Given the description of an element on the screen output the (x, y) to click on. 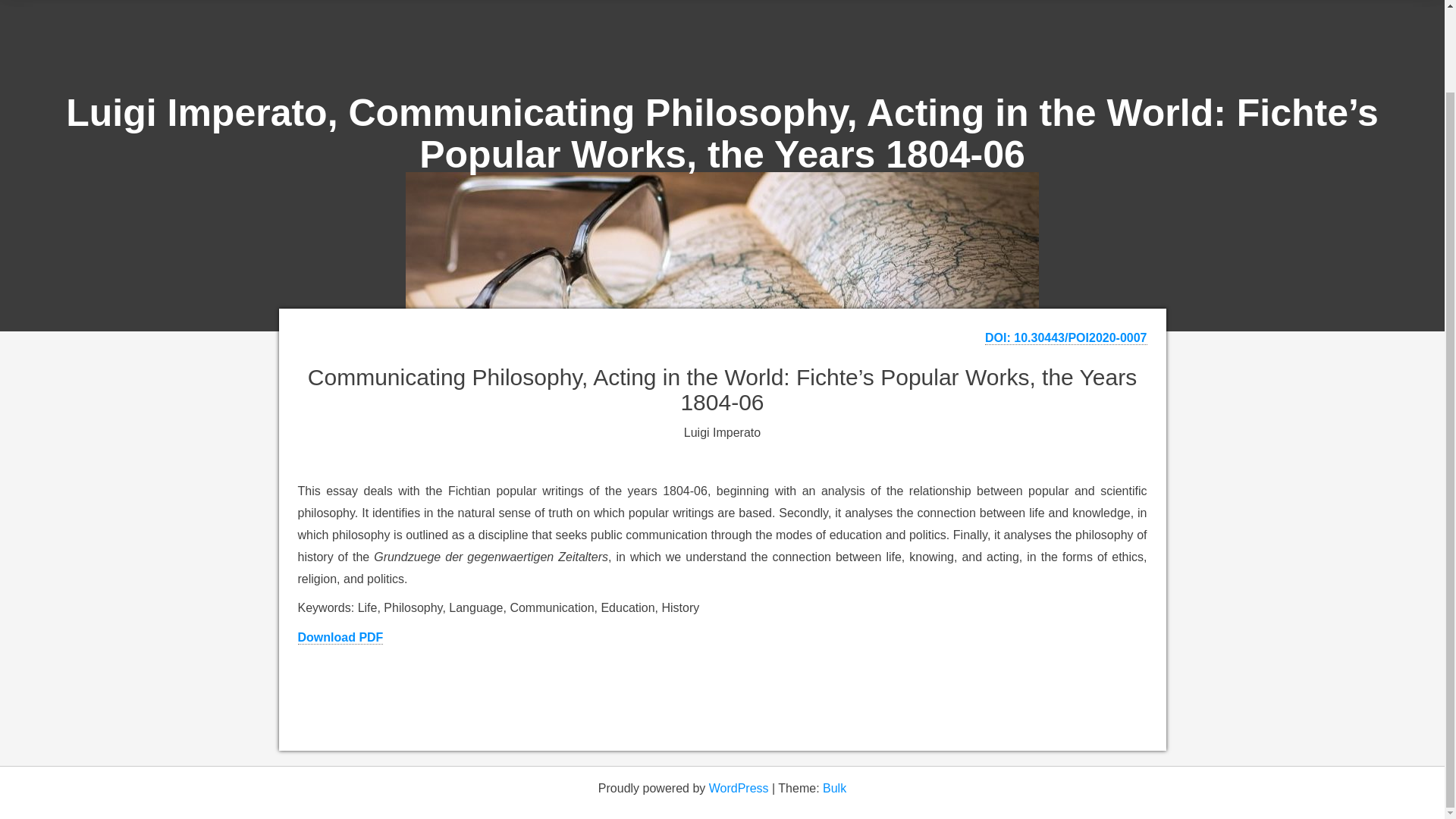
Download PDF (339, 637)
WordPress (738, 788)
Bulk (833, 788)
